Given the description of an element on the screen output the (x, y) to click on. 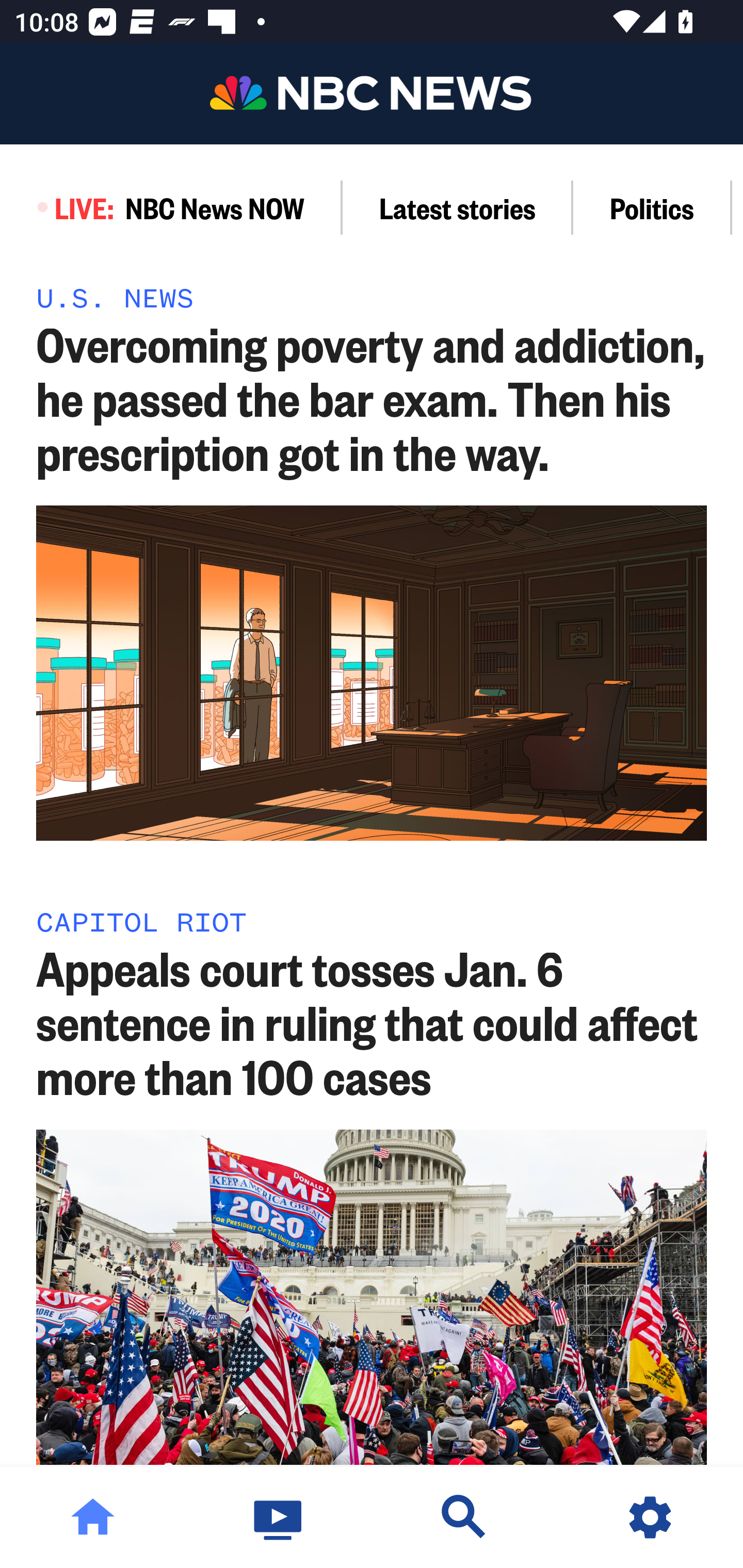
LIVE:  NBC News NOW (171, 207)
Latest stories Section,Latest stories (457, 207)
Politics Section,Politics (652, 207)
Watch (278, 1517)
Discover (464, 1517)
Settings (650, 1517)
